Given the description of an element on the screen output the (x, y) to click on. 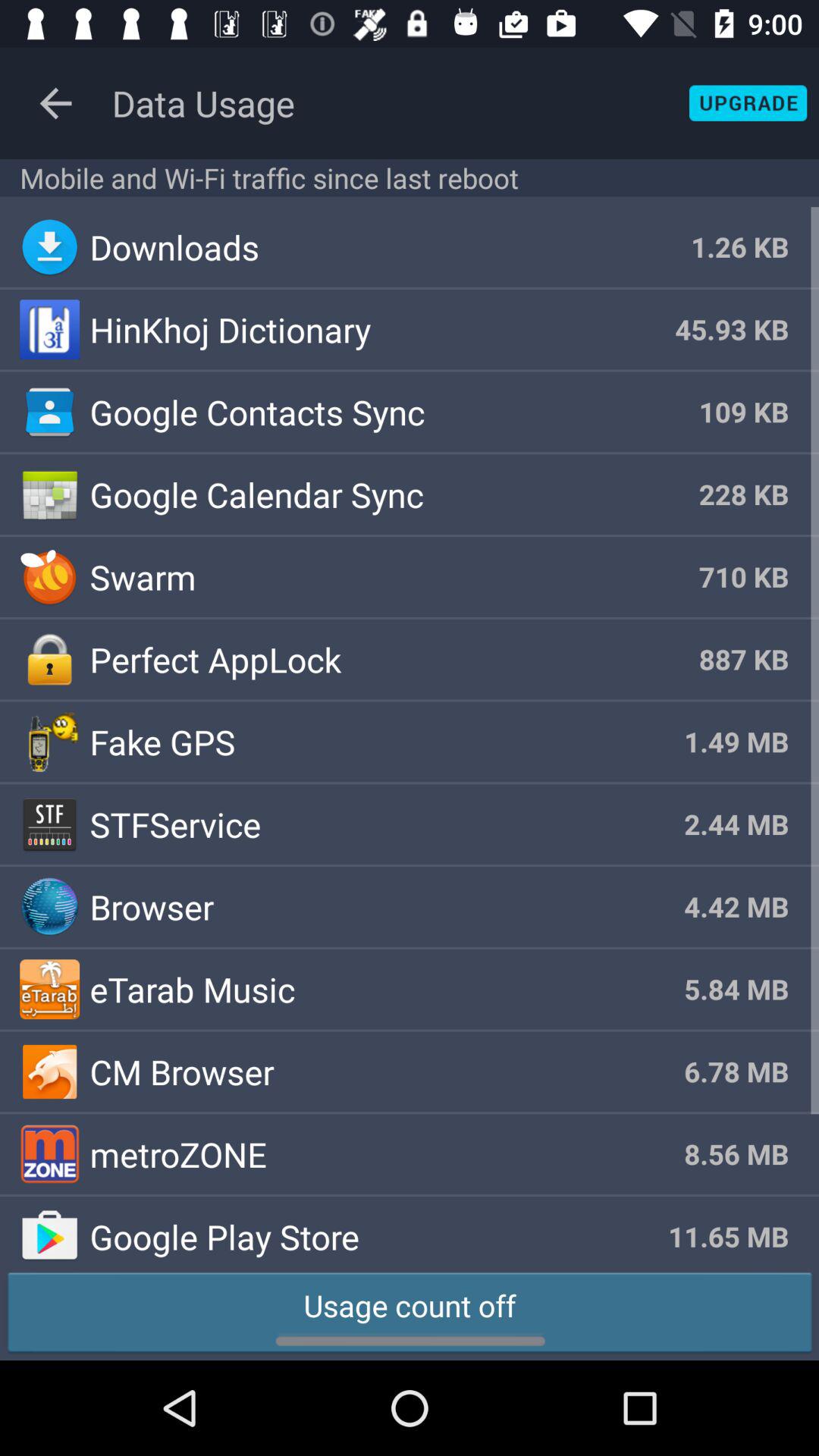
go to previous (55, 103)
